Given the description of an element on the screen output the (x, y) to click on. 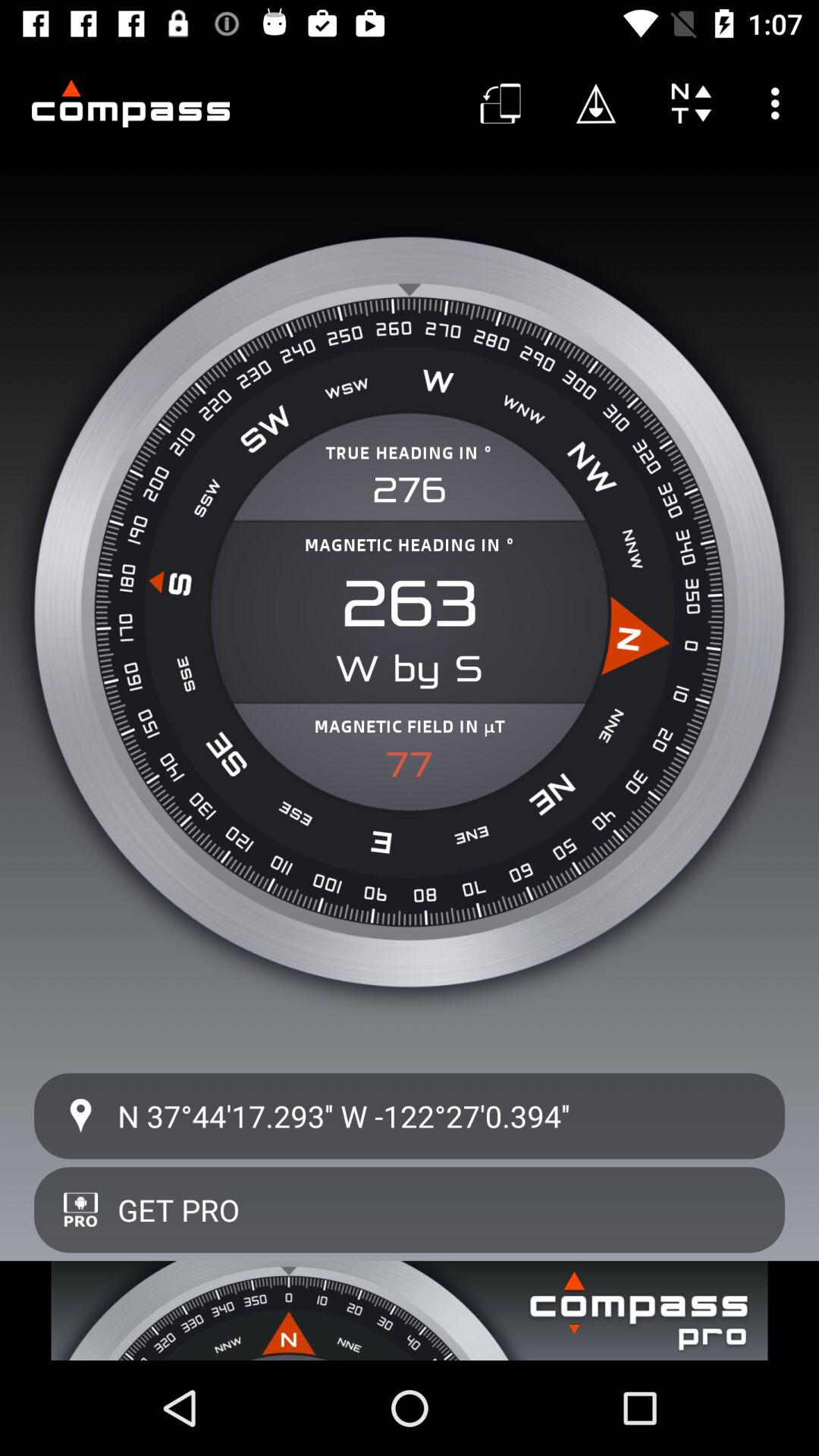
choose the w by s icon (409, 668)
